Given the description of an element on the screen output the (x, y) to click on. 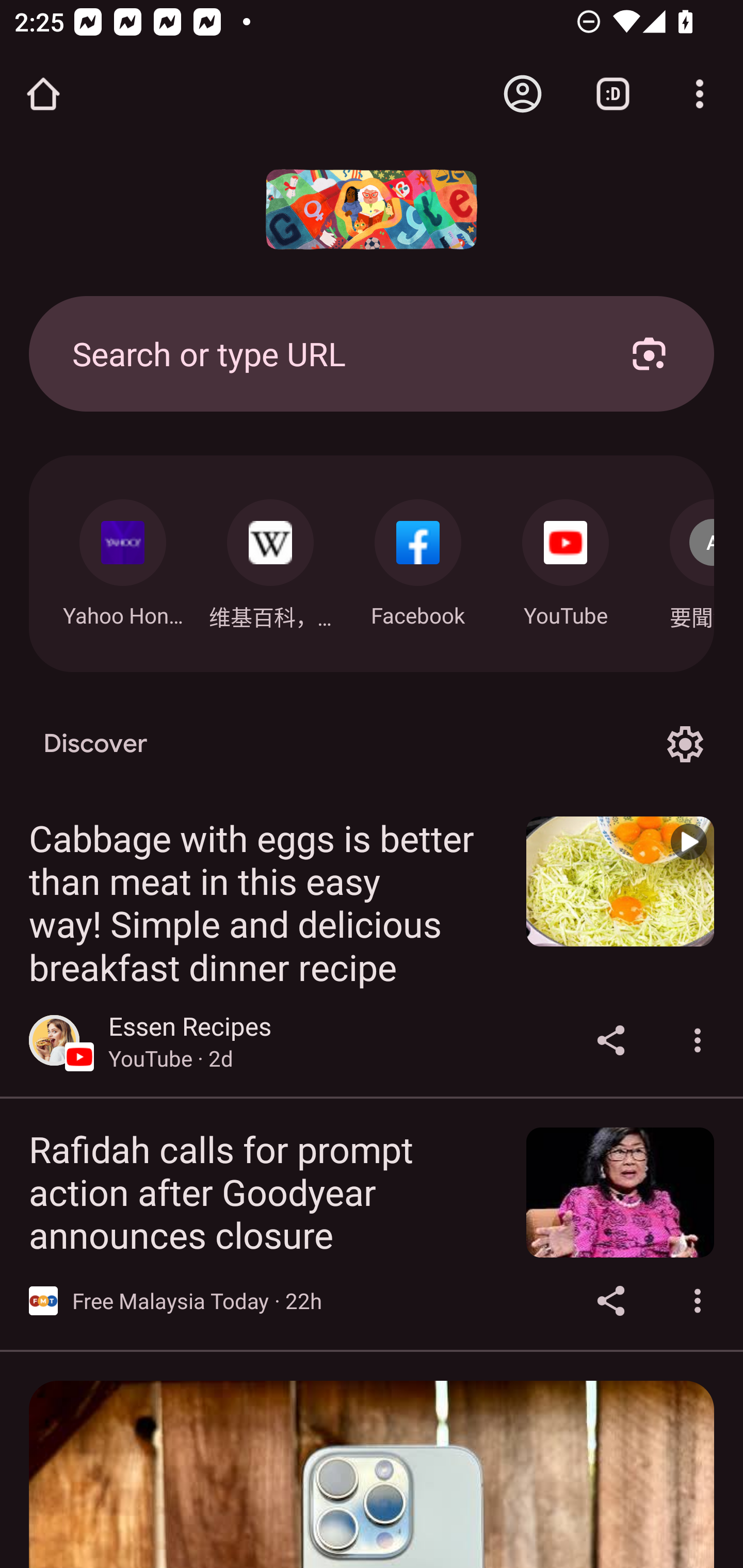
Open the home page (43, 93)
Switch or close tabs (612, 93)
Customize and control Google Chrome (699, 93)
Google doodle: 2024 年國際婦女節 (371, 209)
Search or type URL (327, 353)
Search with your camera using Google Lens (648, 353)
Navigate: Facebook: m.facebook.com Facebook (417, 558)
Navigate: YouTube: m.youtube.com YouTube (565, 558)
Options for Discover (684, 743)
